Given the description of an element on the screen output the (x, y) to click on. 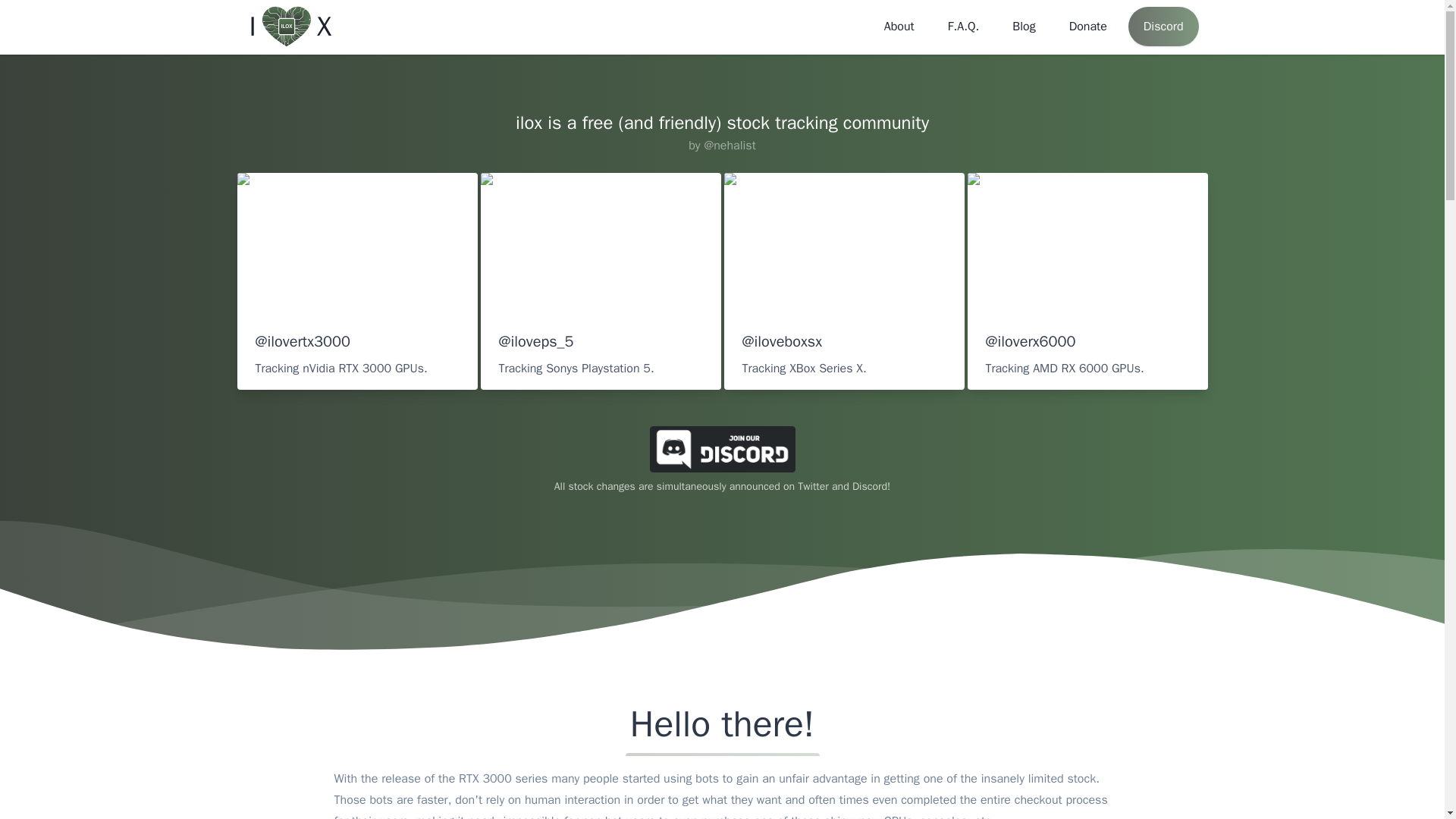
Discord (1163, 25)
F.A.Q. (963, 26)
Donate (1088, 26)
About (899, 26)
Blog (1023, 26)
